Given the description of an element on the screen output the (x, y) to click on. 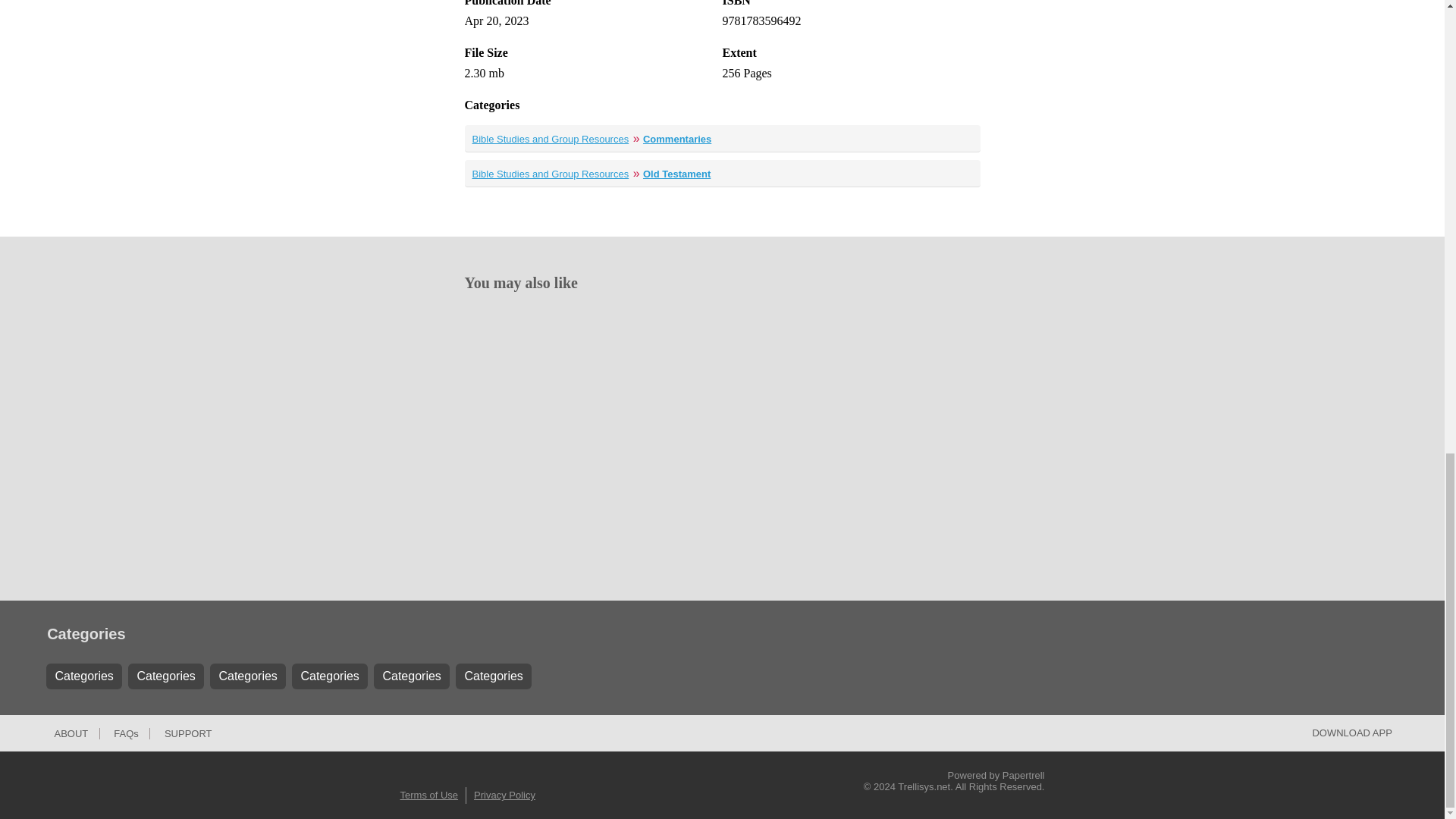
FAQs (126, 733)
Categories (330, 676)
Privacy Policy (508, 795)
Bible Studies and Group Resources (549, 173)
ABOUT (71, 733)
Terms of Use (433, 795)
Categories (411, 676)
Bible Studies and Group Resources (549, 138)
Categories (165, 676)
SUPPORT (188, 733)
Commentaries (677, 138)
Categories (84, 676)
Old Testament (676, 173)
Categories (247, 676)
Papertrell (1024, 775)
